Given the description of an element on the screen output the (x, y) to click on. 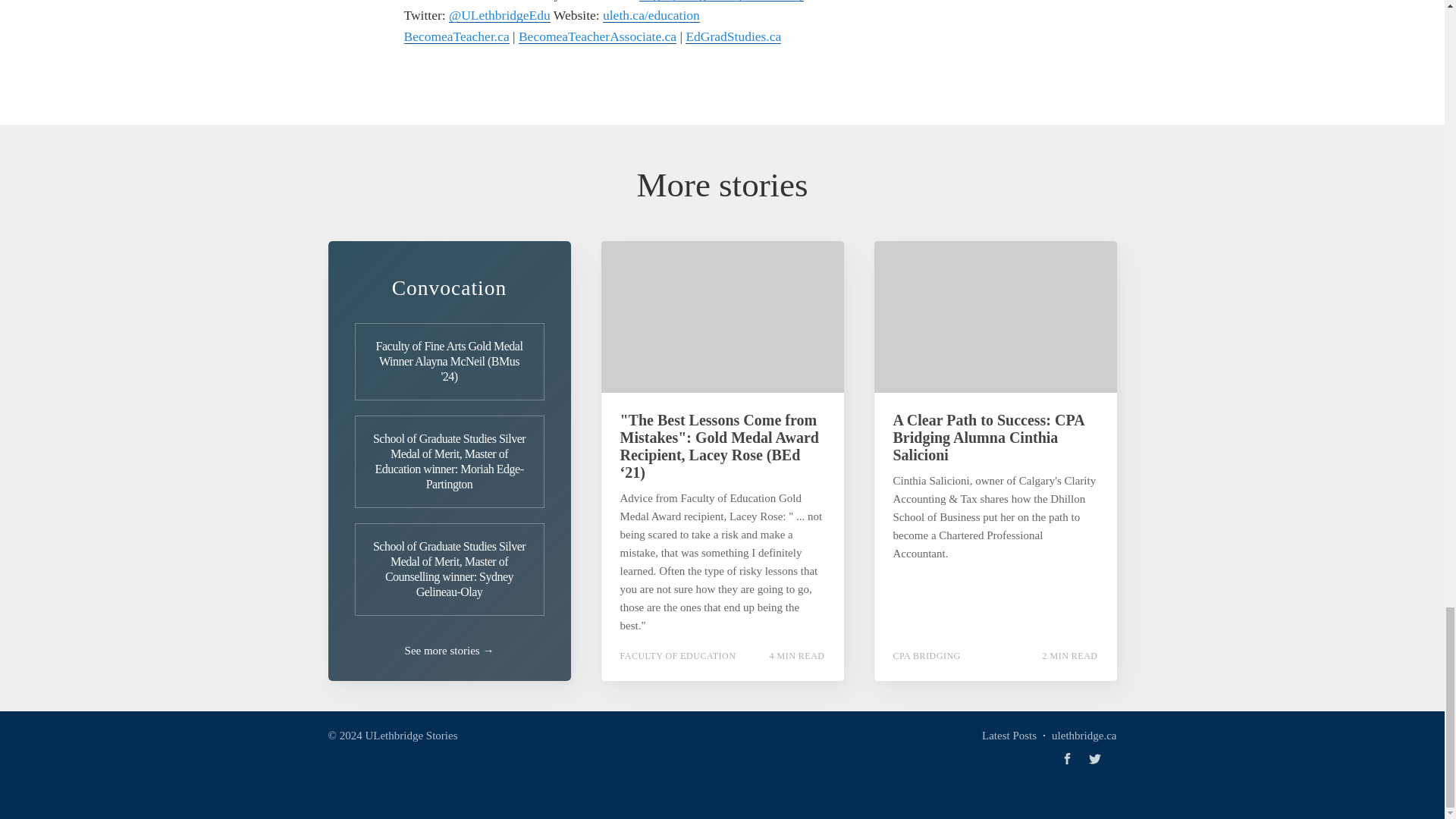
EdGradStudies.ca (732, 36)
Convocation (448, 287)
BecomeaTeacher.ca (455, 36)
BecomeaTeacherAssociate.ca (597, 36)
